Given the description of an element on the screen output the (x, y) to click on. 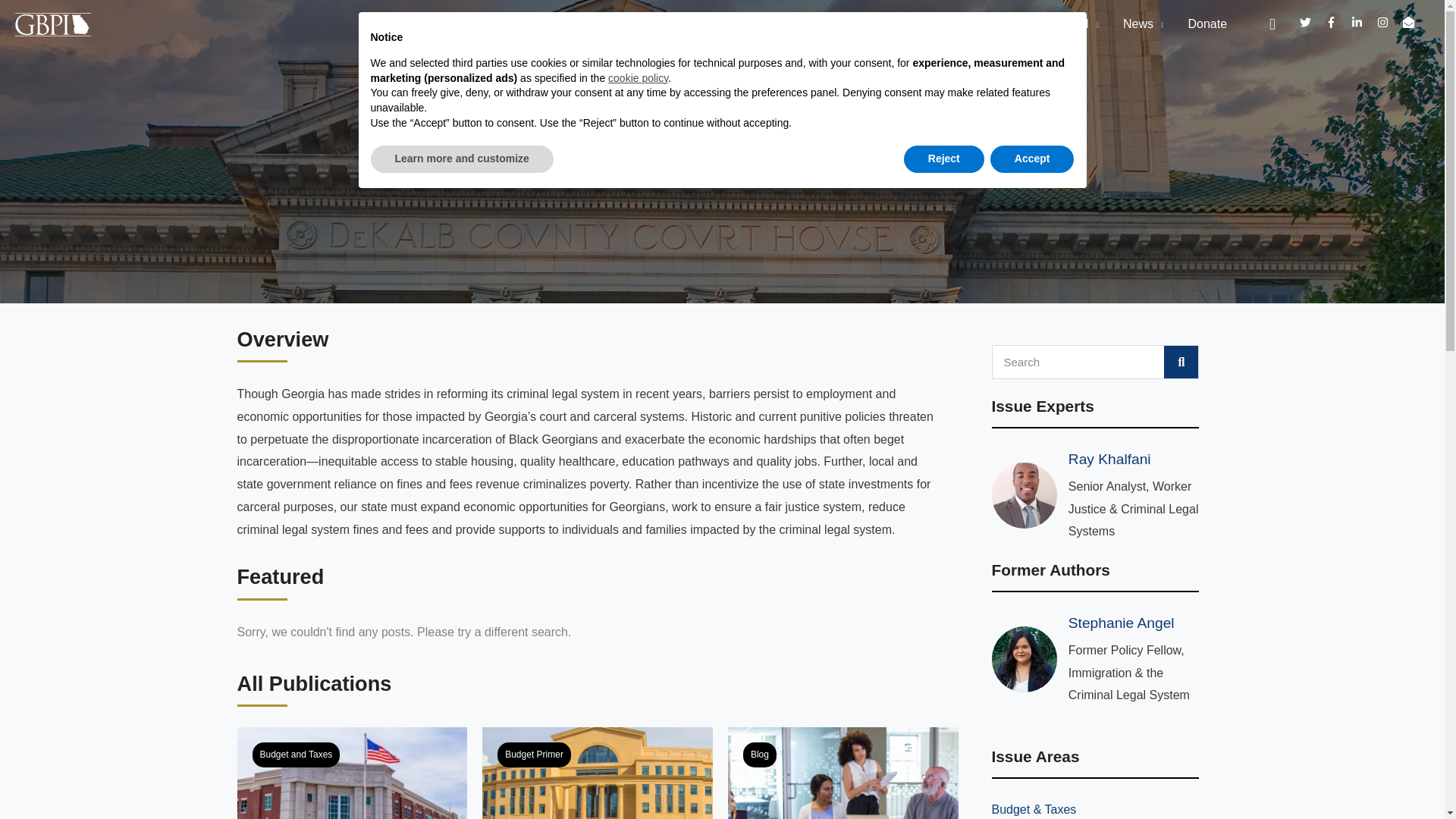
Policy Priorities (863, 24)
About (770, 24)
Research (965, 24)
Sine Die 2023 Recap (843, 802)
CLS (597, 773)
sine die blog 2023 (843, 773)
